Given the description of an element on the screen output the (x, y) to click on. 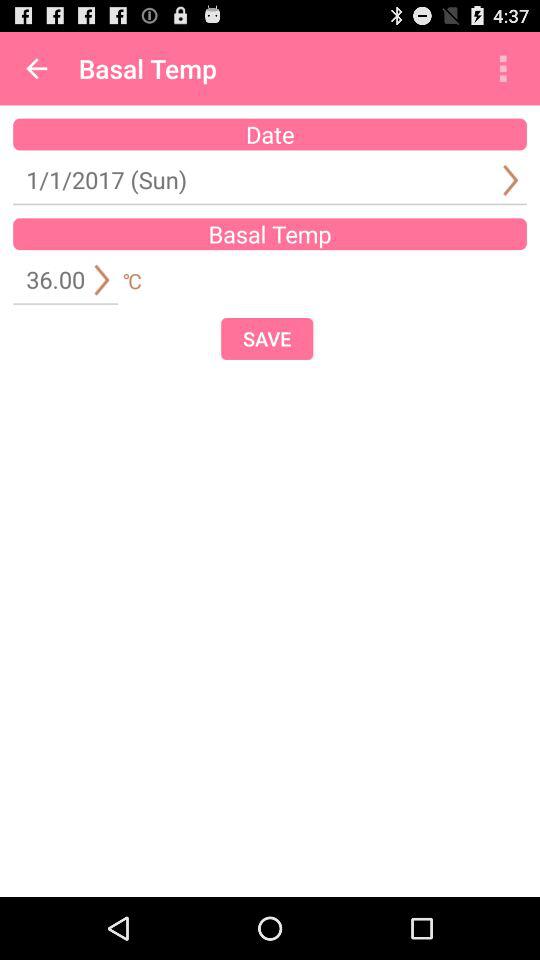
turn off the item next to the basal temp icon (36, 68)
